Given the description of an element on the screen output the (x, y) to click on. 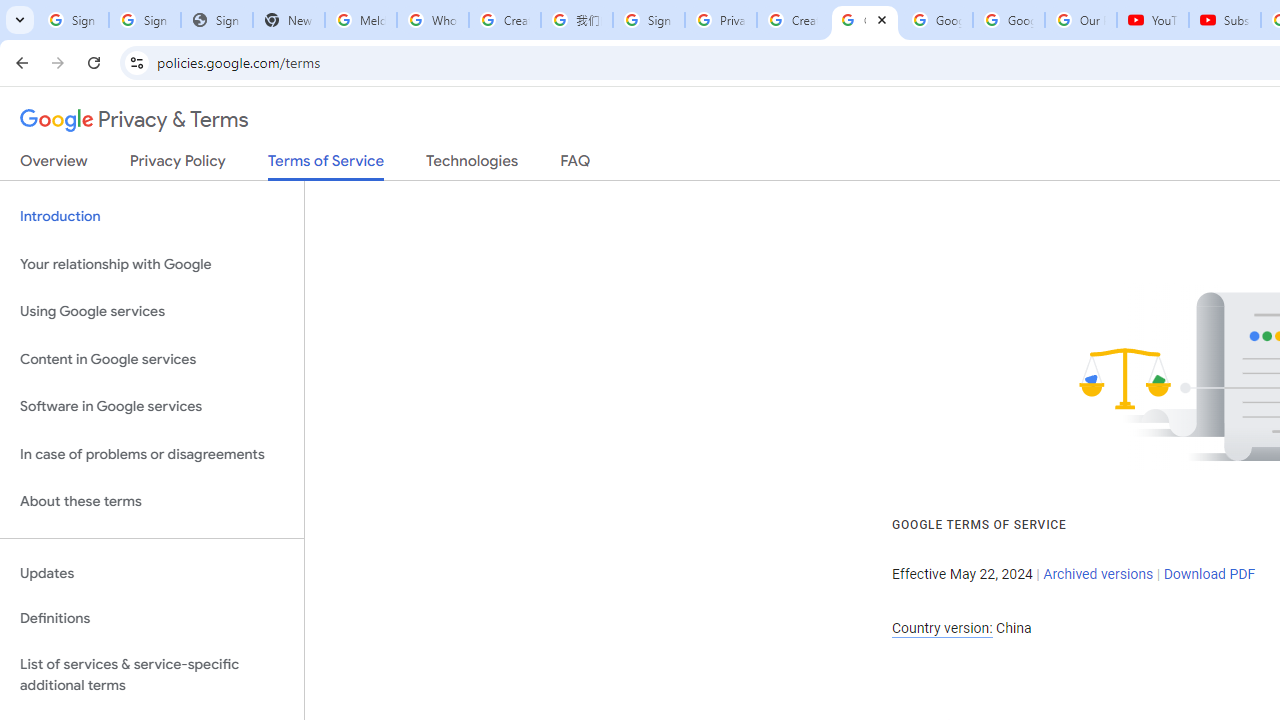
About these terms (152, 502)
Sign in - Google Accounts (72, 20)
Privacy & Terms (134, 120)
YouTube (1153, 20)
FAQ (575, 165)
Download PDF (1209, 574)
Terms of Service (326, 166)
List of services & service-specific additional terms (152, 674)
Updates (152, 573)
